Given the description of an element on the screen output the (x, y) to click on. 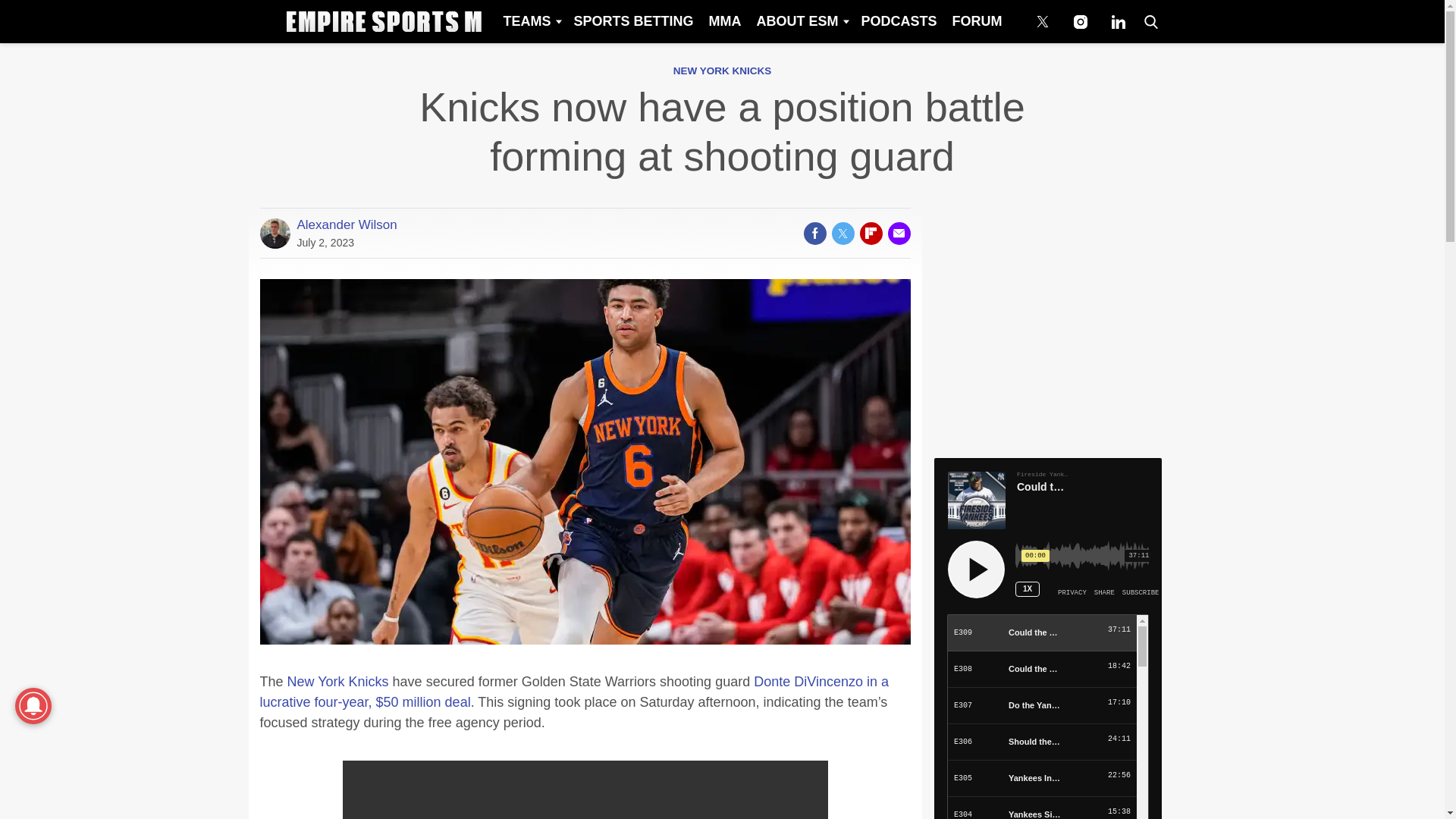
Share on Twitter (842, 232)
ABOUT ESM (800, 21)
Knicks (368, 681)
Alexander Wilson (347, 225)
Share on Flipboard (871, 232)
Share via Email (898, 232)
MMA (724, 21)
SPORTS BETTING (633, 21)
Posts by Alexander Wilson (347, 225)
TEAMS (530, 21)
New York (317, 681)
FORUM (977, 21)
NEW YORK KNICKS (721, 70)
PODCASTS (898, 21)
Share on Facebook (815, 232)
